Given the description of an element on the screen output the (x, y) to click on. 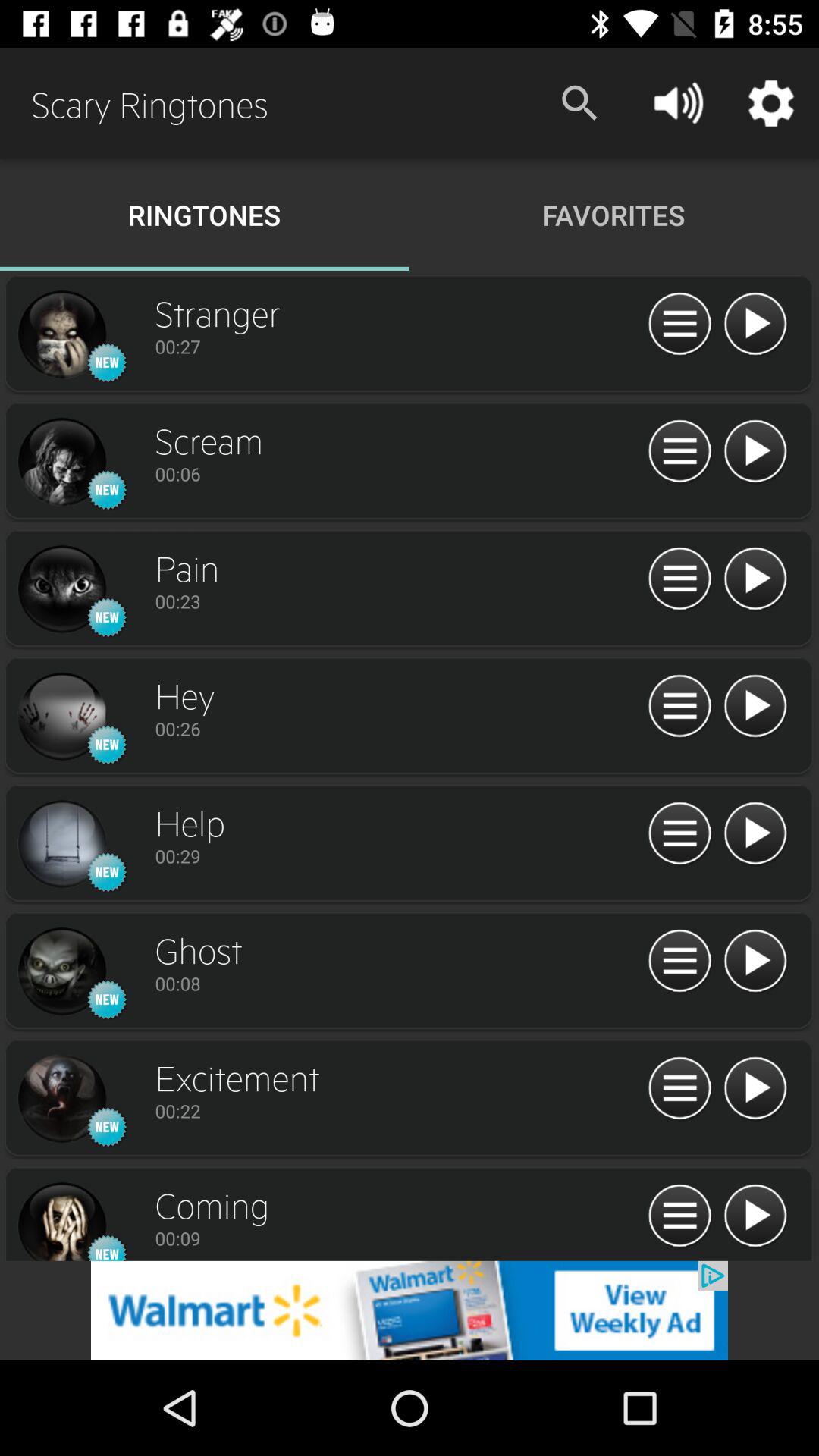
song picture (61, 716)
